Given the description of an element on the screen output the (x, y) to click on. 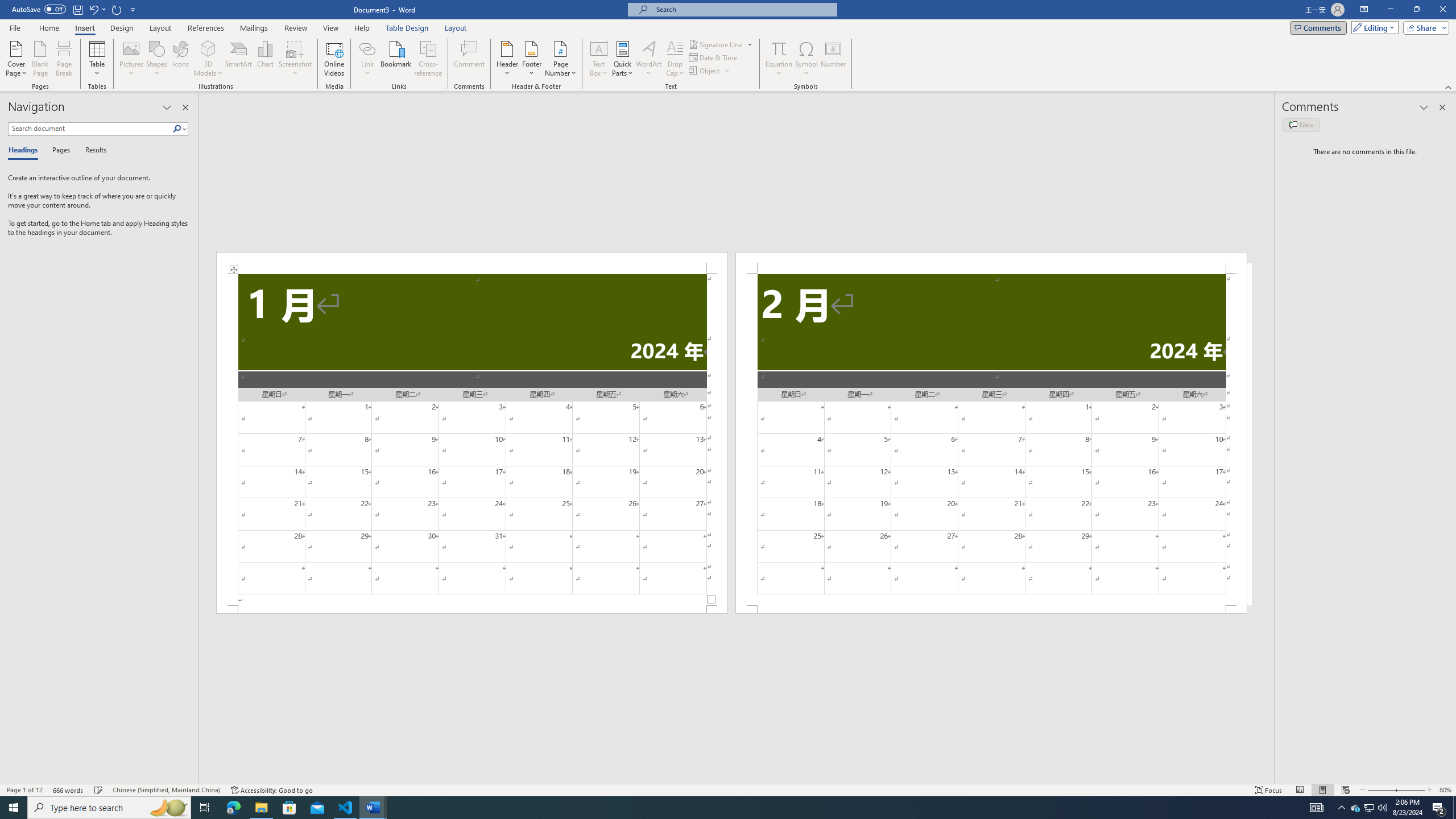
Undo Increase Indent (96, 9)
Ribbon Display Options (1364, 9)
Page Number (560, 58)
File Tab (15, 27)
Page 2 content (991, 439)
System (6, 6)
Online Videos... (333, 58)
Symbol (806, 58)
New comment (1300, 124)
Icons (180, 58)
Collapse the Ribbon (1448, 86)
Comments (1318, 27)
Footer (531, 58)
